Given the description of an element on the screen output the (x, y) to click on. 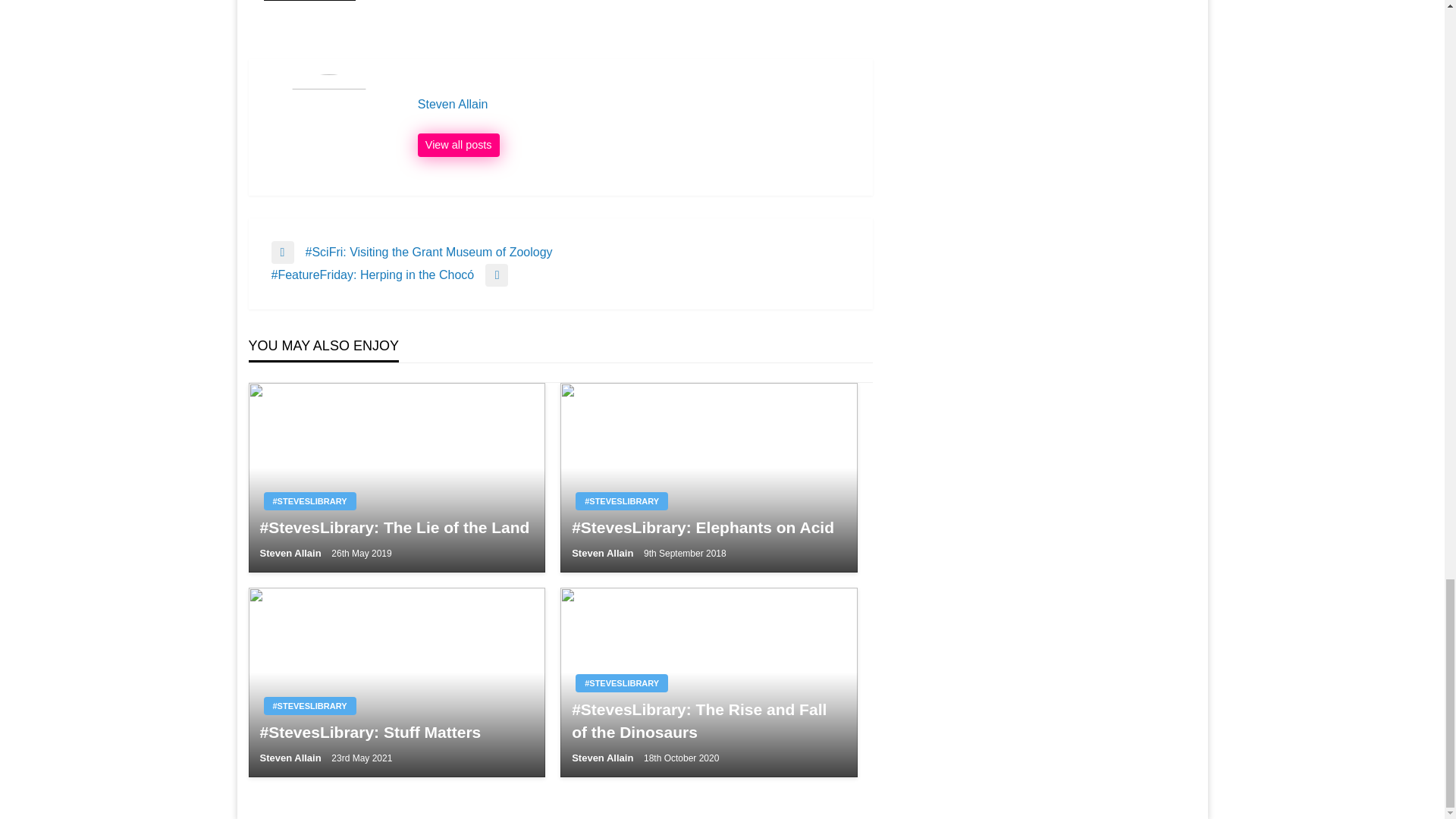
Steven Allain (637, 104)
Steven Allain (458, 145)
